Given the description of an element on the screen output the (x, y) to click on. 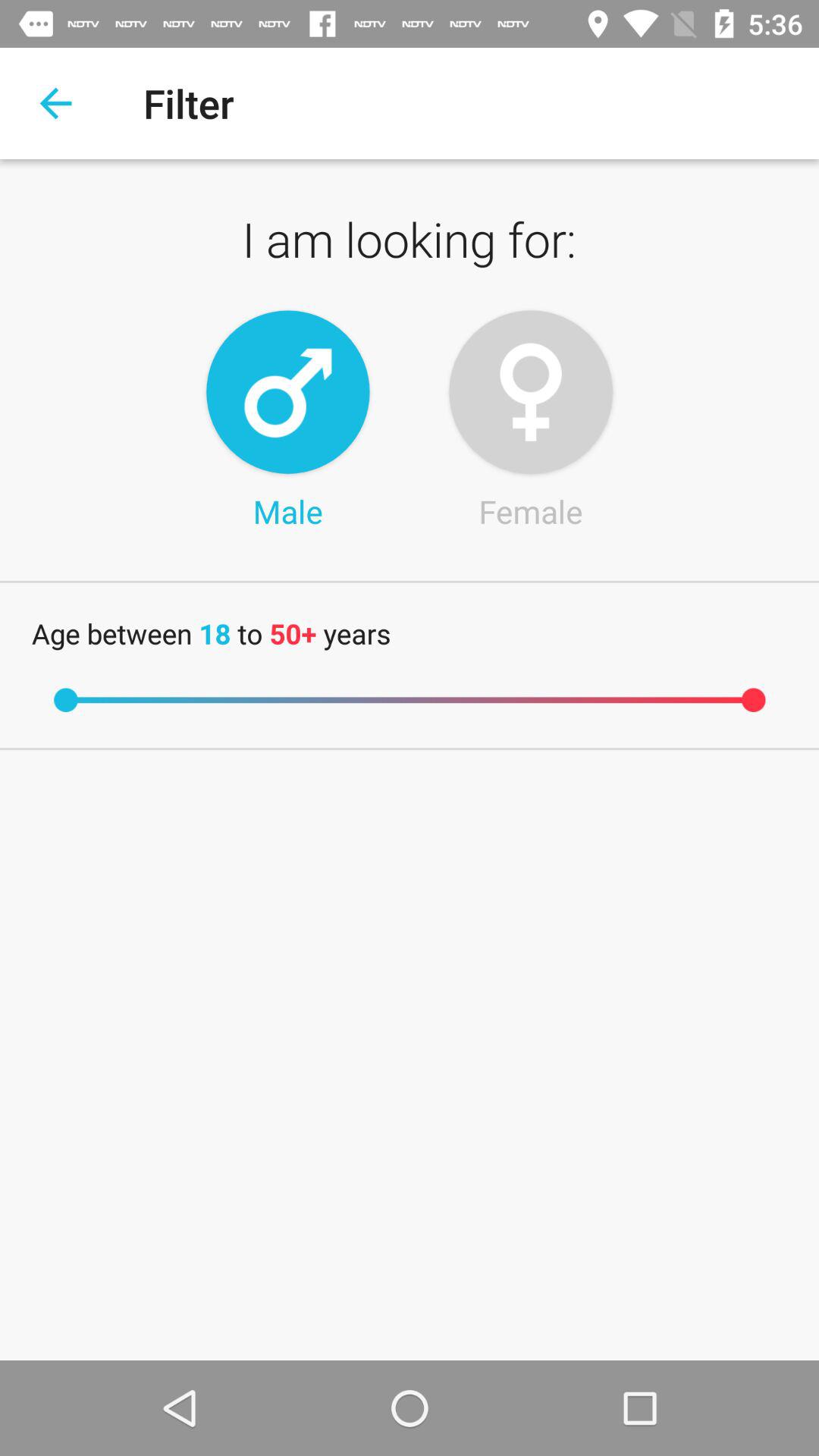
tap the item above i am looking item (55, 103)
